Given the description of an element on the screen output the (x, y) to click on. 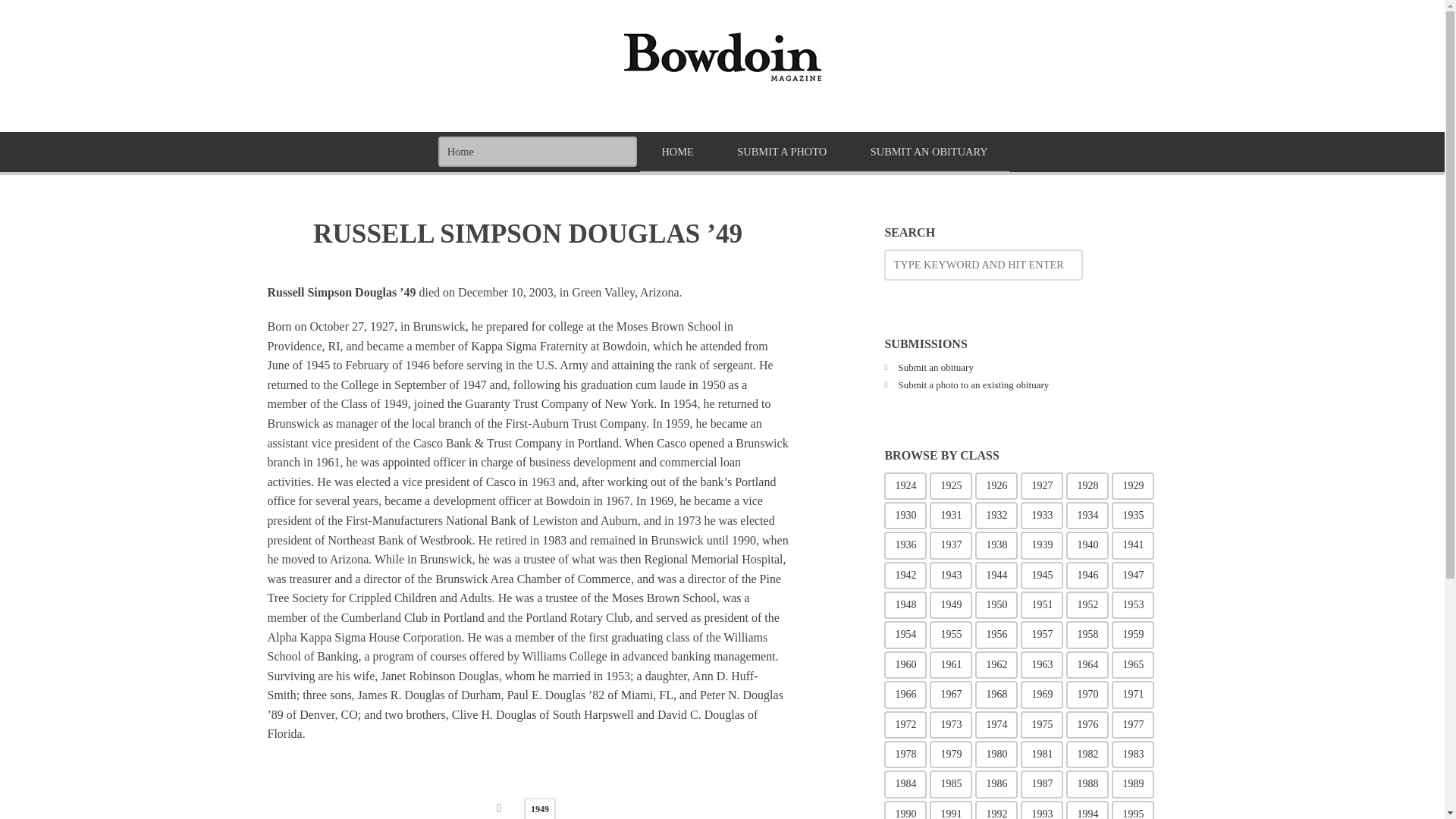
2 topics (1133, 484)
1927 (1041, 484)
1935 (1133, 515)
1948 (904, 605)
Submit a photo to an existing obituary (973, 384)
1952 (1086, 605)
1931 (951, 515)
1929 (1133, 484)
1936 (904, 544)
1925 (951, 484)
